Given the description of an element on the screen output the (x, y) to click on. 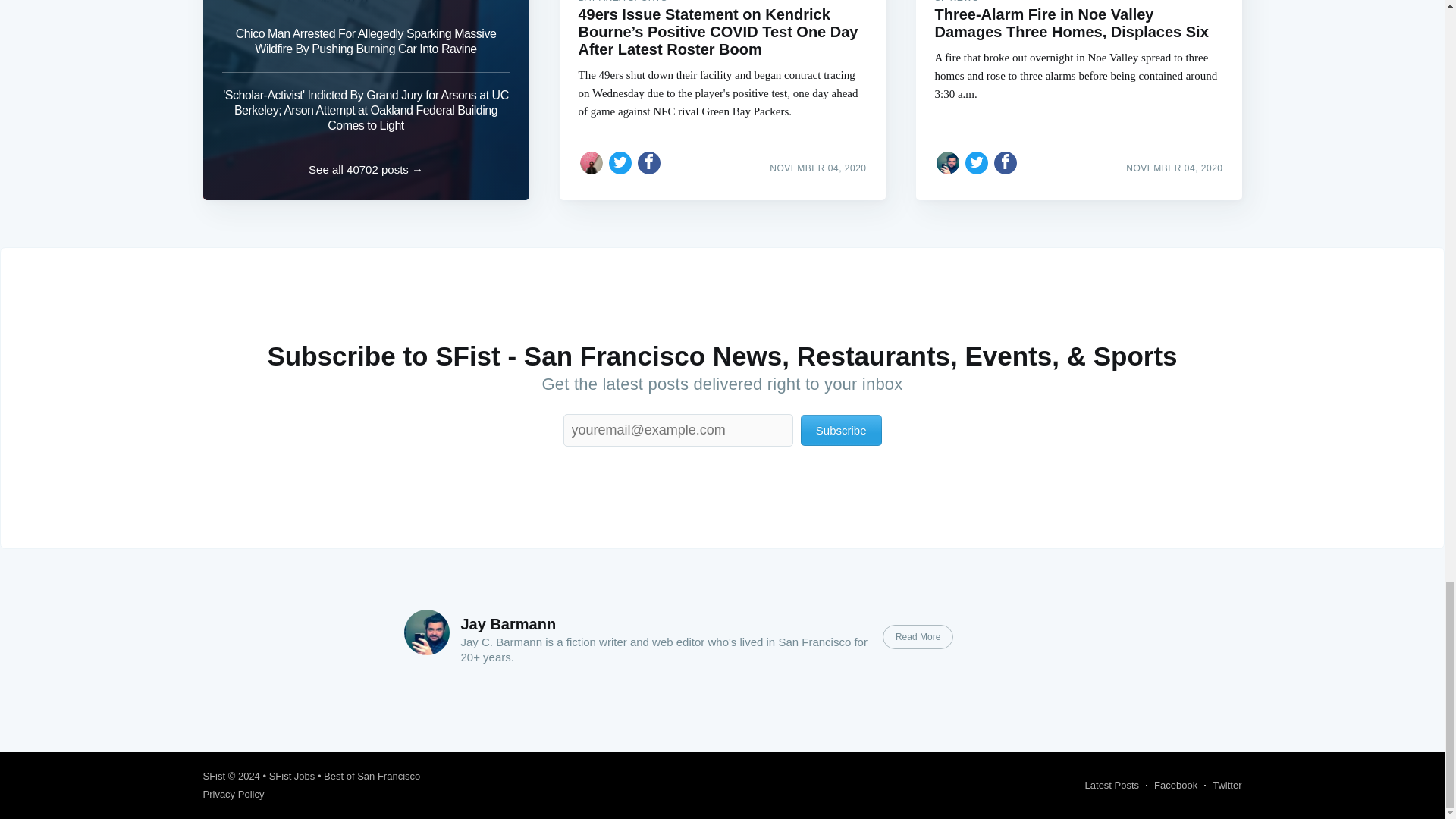
Share on Twitter (976, 162)
Share on Facebook (649, 162)
Share on Facebook (1004, 162)
Share on Twitter (620, 162)
